Given the description of an element on the screen output the (x, y) to click on. 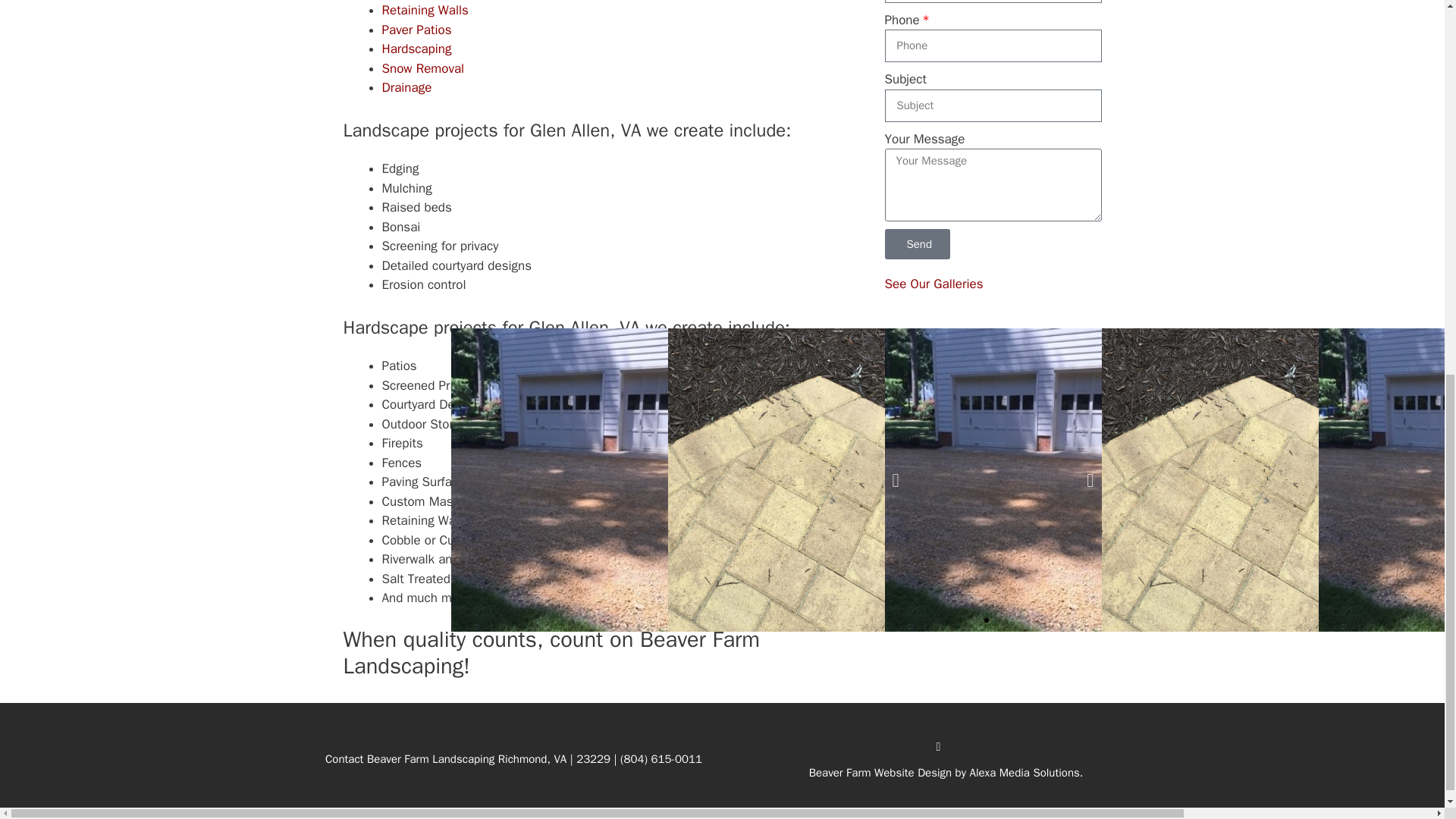
Glen Allen Drainage Systems (406, 87)
Glen Allen Retaining Walls (424, 10)
Glen Allen Hardscaping (416, 48)
Glen Allen Snow Removal (422, 68)
Glen Allen Paver Patios (416, 29)
